Given the description of an element on the screen output the (x, y) to click on. 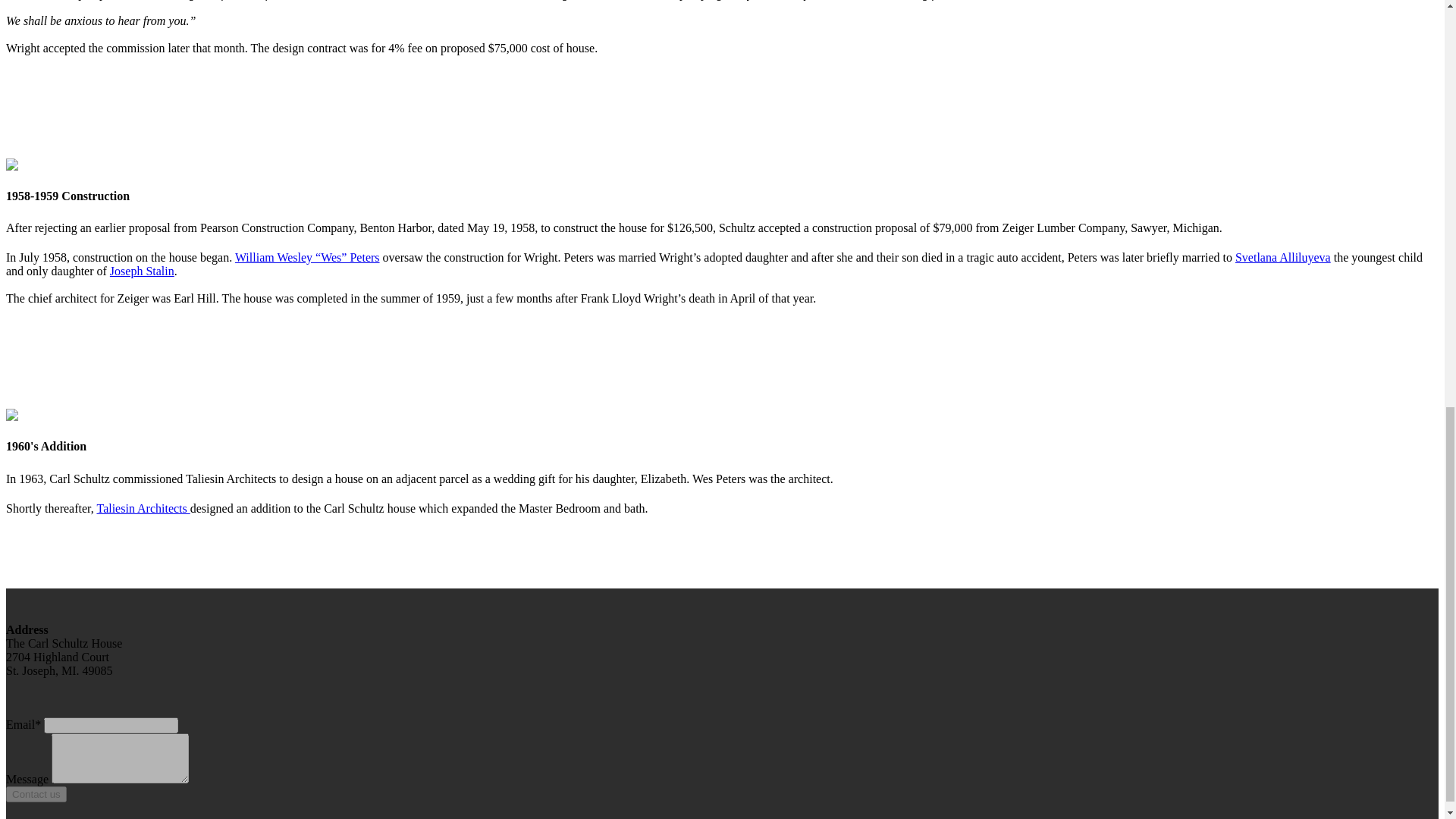
Contact us (35, 794)
Taliesin Architects (142, 508)
Svetlana Alliluyeva (1282, 256)
Joseph Stalin (142, 270)
